Given the description of an element on the screen output the (x, y) to click on. 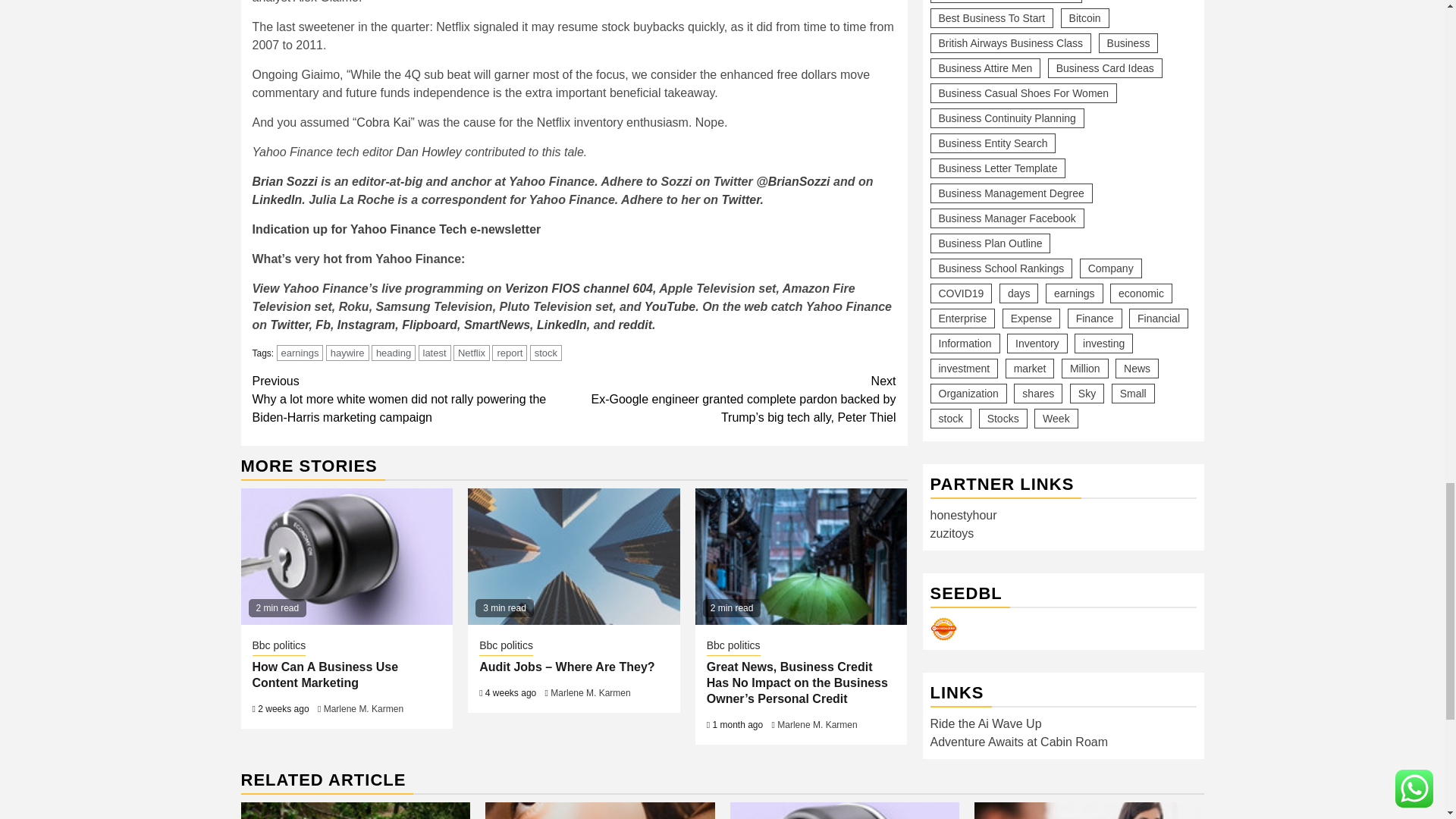
Seedbacklink (943, 240)
SmartNews (496, 324)
Brian Sozzi (284, 181)
Verizon FIOS channel 604 (578, 287)
YouTube (670, 306)
LinkedIn (276, 199)
Fb (322, 324)
Indication up for Yahoo Finance Tech e-newsletter (395, 228)
Twitter (288, 324)
